Given the description of an element on the screen output the (x, y) to click on. 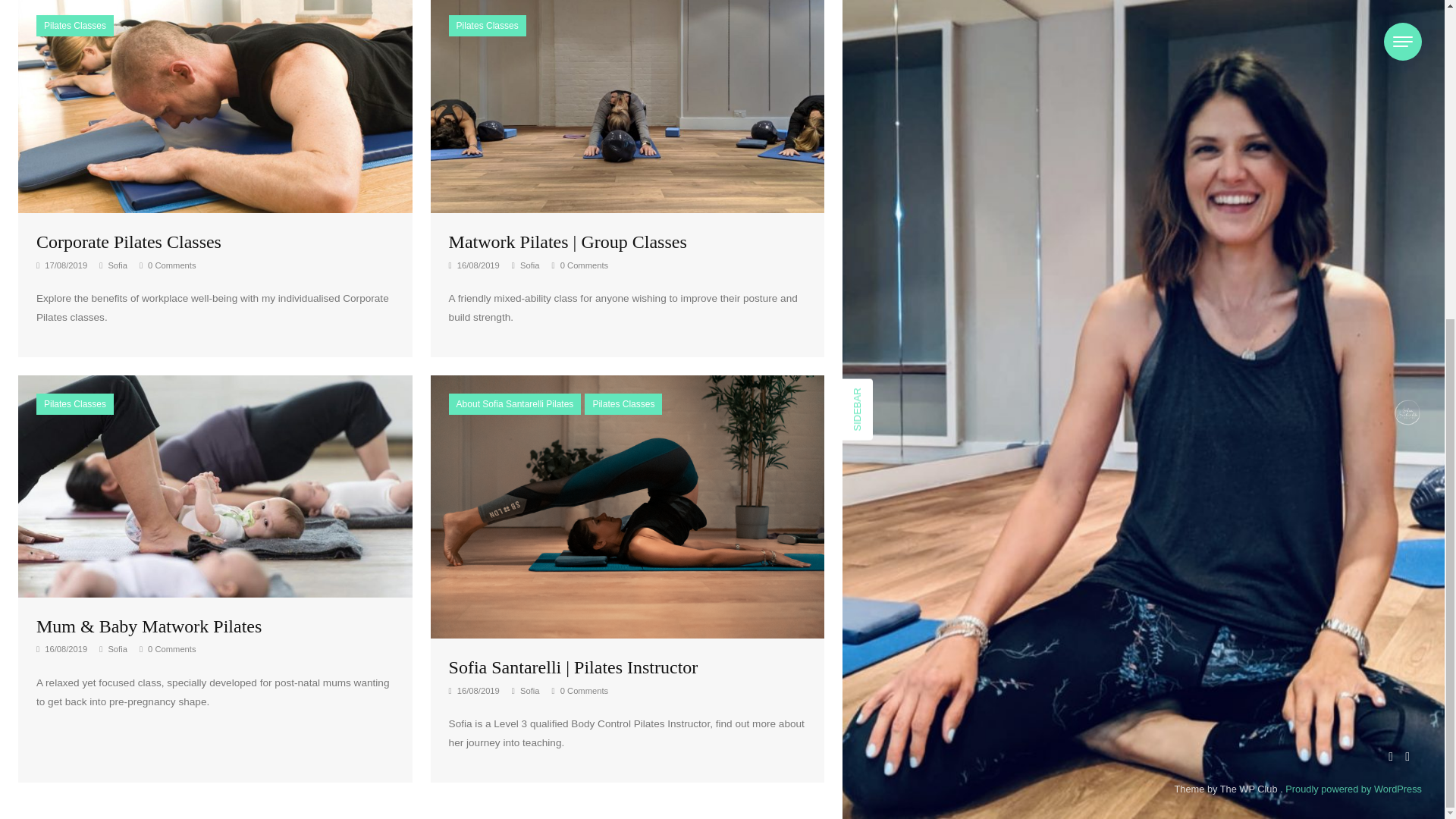
Pilates Classes (74, 25)
Pilates Classes (74, 403)
Sofia (526, 690)
Corporate Pilates Classes (128, 241)
Sofia (113, 648)
Proudly powered by WordPress (1353, 273)
Corporate Pilates Classes (128, 241)
Pilates Classes (623, 403)
Pilates Classes (486, 25)
Sofia (526, 265)
Sofia (113, 265)
About Sofia Santarelli Pilates (514, 403)
Corporate Pilates Classes (214, 103)
